Given the description of an element on the screen output the (x, y) to click on. 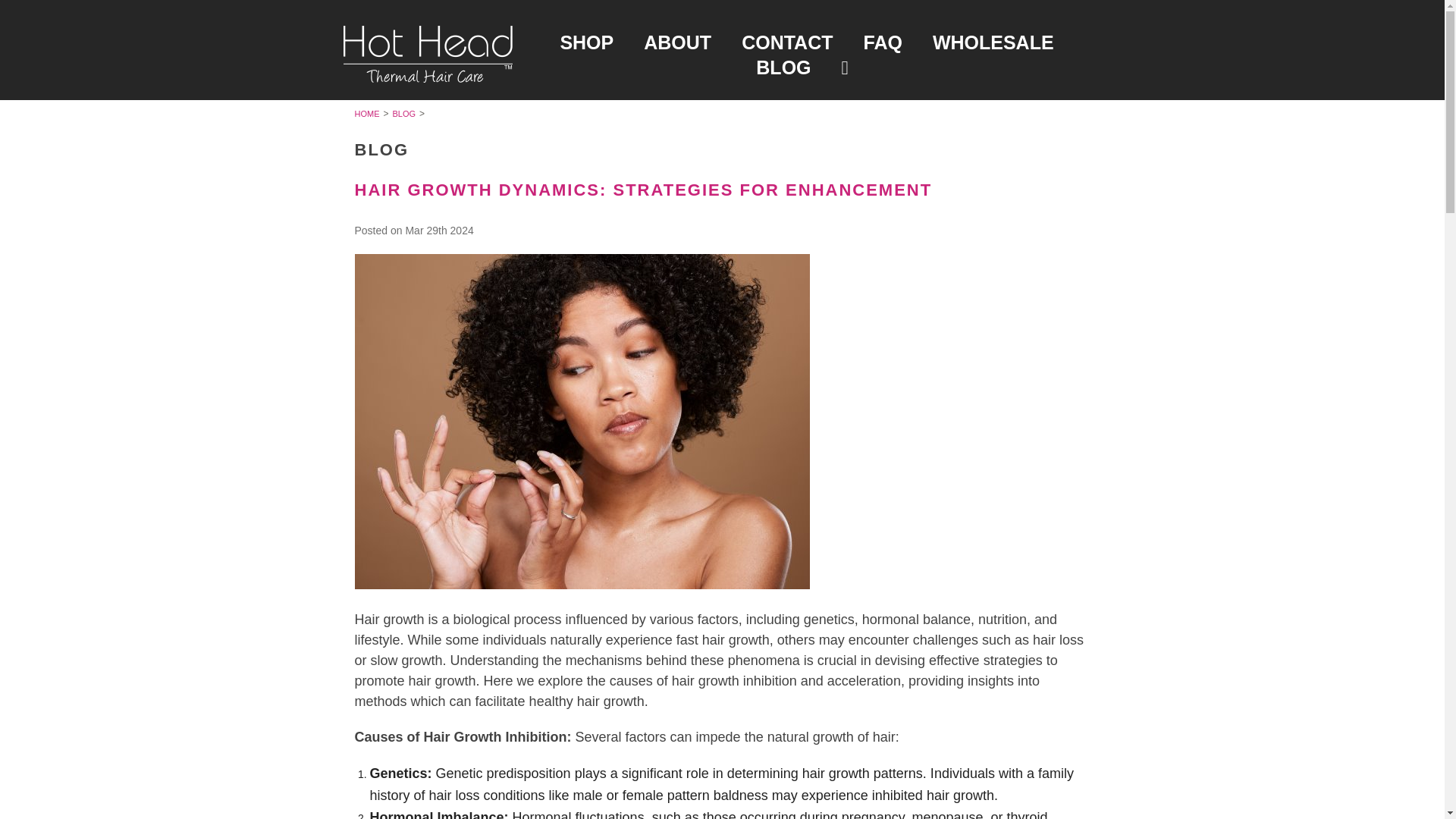
WHOLESALE (992, 41)
FAQ (882, 41)
SHOP (586, 41)
BLOG (402, 112)
HAIR GROWTH DYNAMICS: STRATEGIES FOR ENHANCEMENT (644, 189)
ABOUT (677, 41)
CONTACT (786, 41)
BLOG (783, 67)
HOME (367, 112)
